Given the description of an element on the screen output the (x, y) to click on. 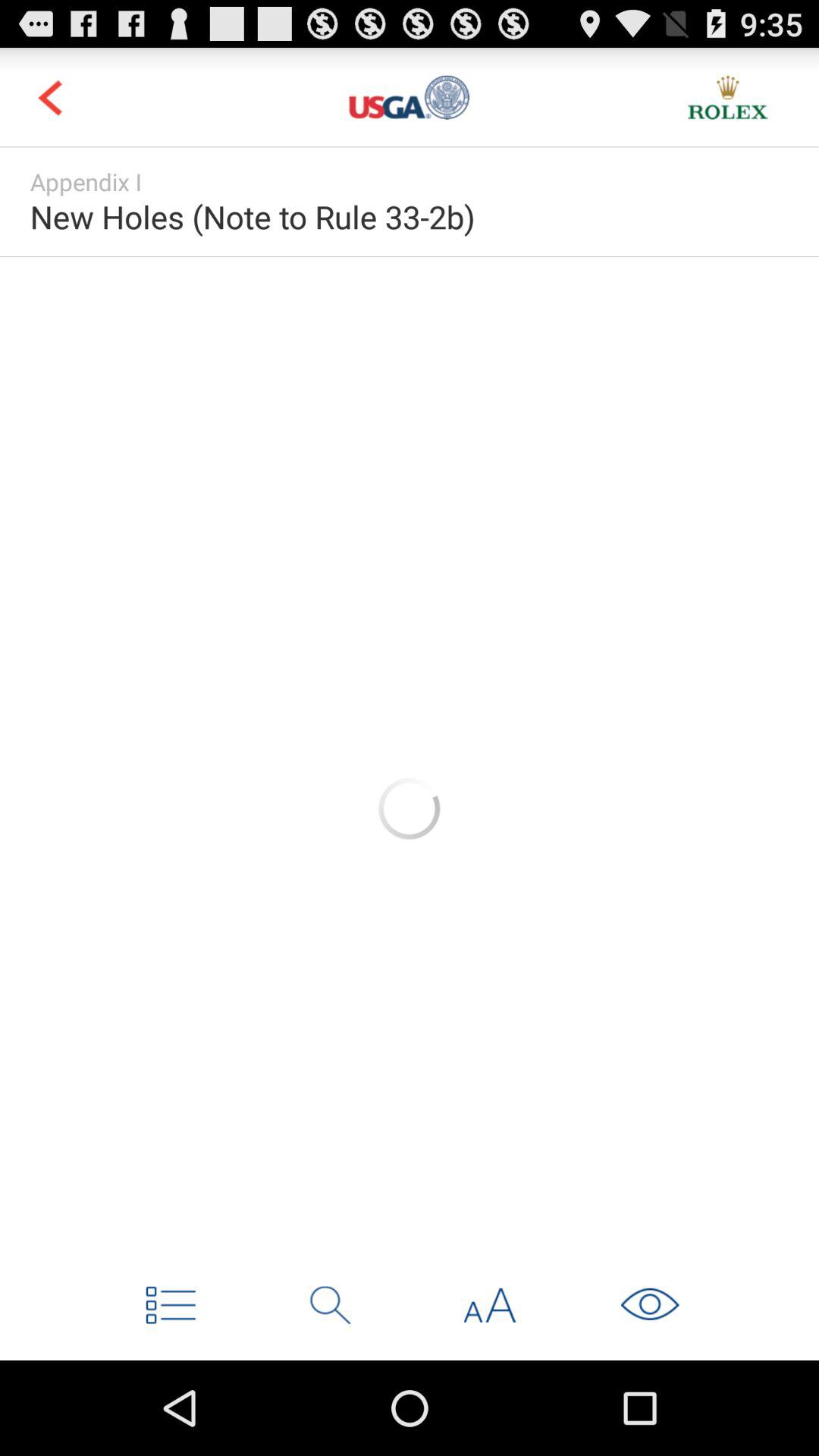
new pega (728, 97)
